Given the description of an element on the screen output the (x, y) to click on. 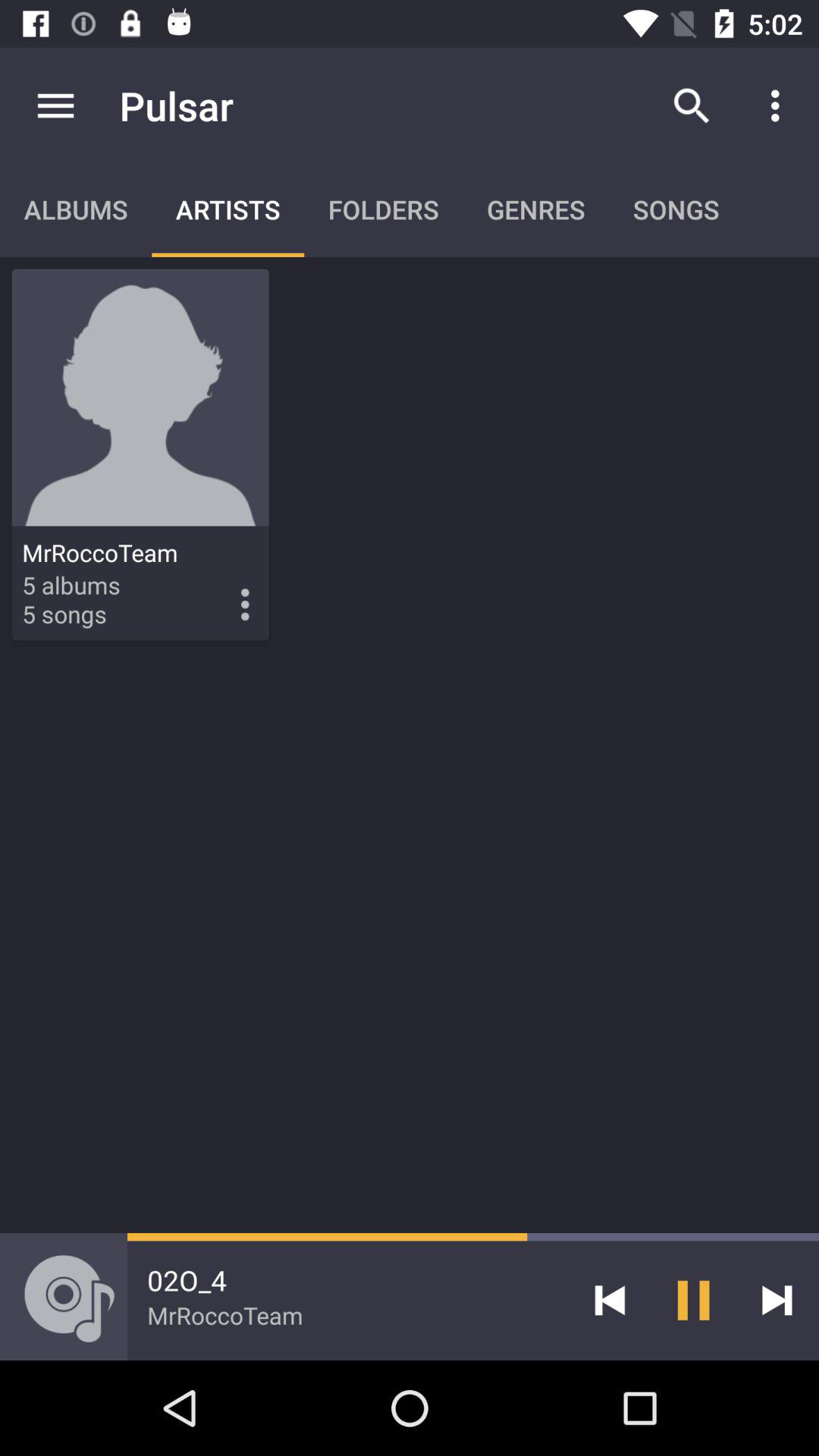
select item next to pulsar icon (691, 105)
